Given the description of an element on the screen output the (x, y) to click on. 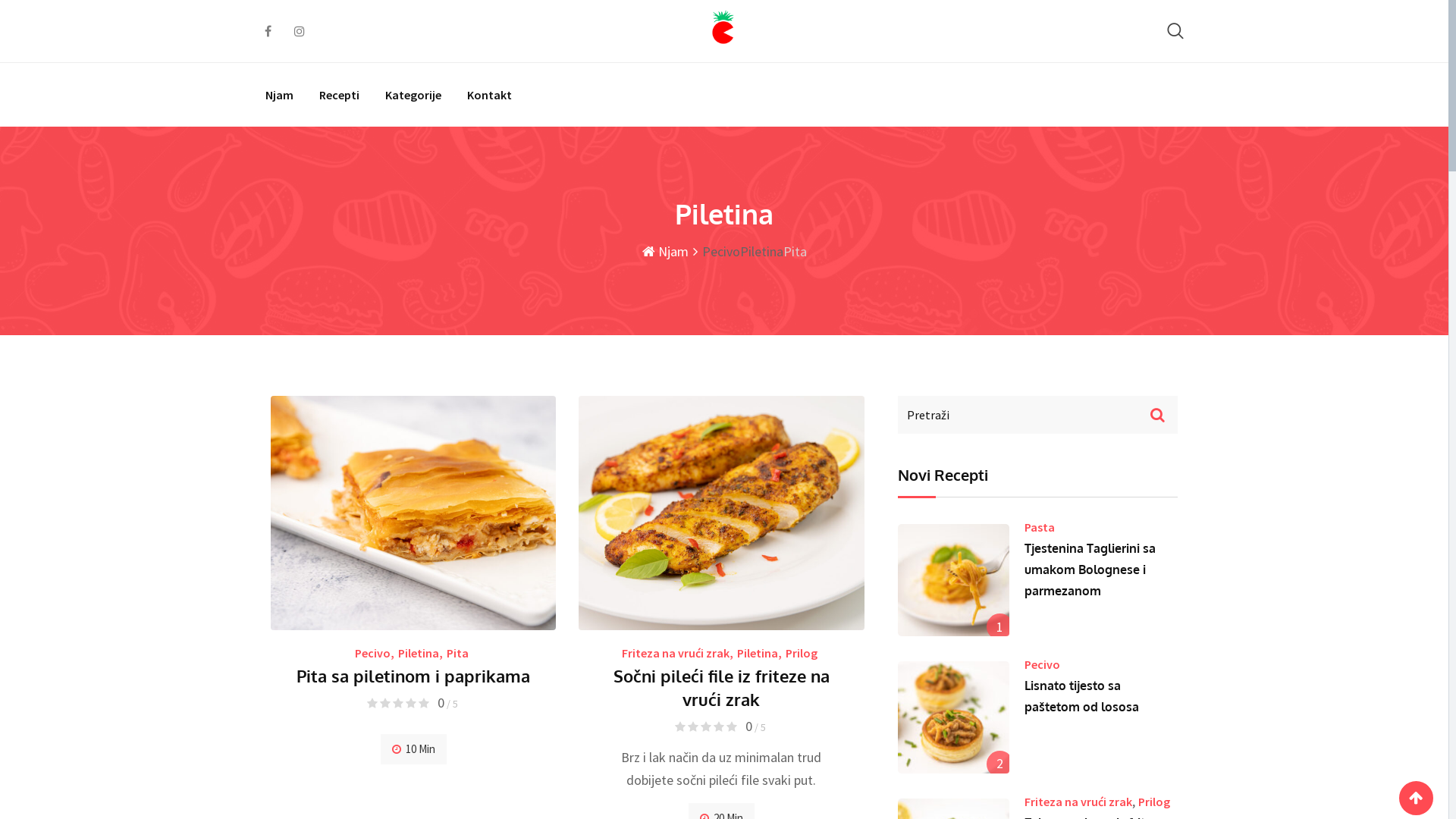
Pita Element type: text (457, 652)
Tjestenina Taglierini sa umakom Bolognese i parmezanom Element type: hover (953, 580)
Kontakt Element type: text (489, 94)
Pasta Element type: text (1039, 526)
Kategorije Element type: text (412, 94)
Pecivo Element type: text (372, 652)
Piletina Element type: text (757, 652)
10 Min Element type: text (413, 748)
Recepti Element type: text (338, 94)
Pecivo Element type: text (1042, 663)
Pretraga Element type: hover (1175, 30)
Pita sa piletinom i paprikama Element type: text (413, 675)
Njam Element type: text (664, 251)
Tjestenina Taglierini sa umakom Bolognese i parmezanom Element type: text (1089, 569)
Piletina Element type: text (418, 652)
Prilog Element type: text (801, 652)
Njam Element type: text (284, 94)
Prilog Element type: text (1154, 801)
